Given the description of an element on the screen output the (x, y) to click on. 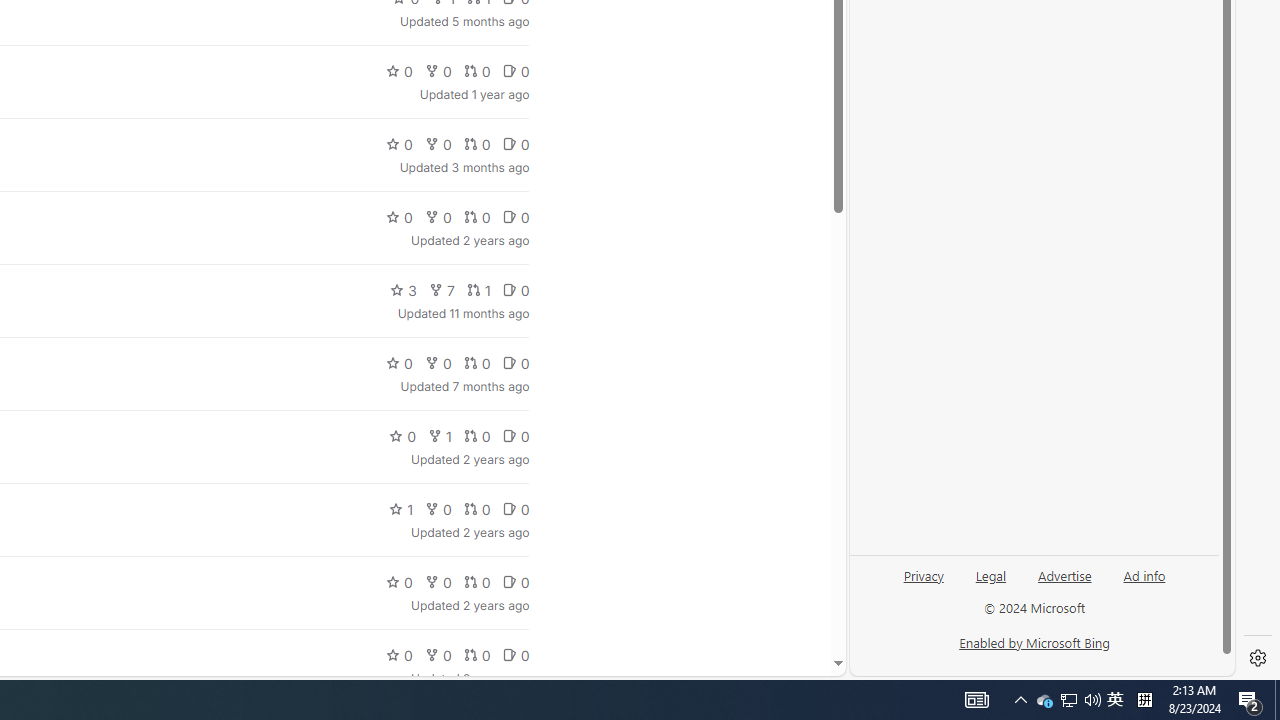
Class: s14 gl-mr-2 (509, 655)
3 (403, 289)
7 (441, 289)
1 (401, 508)
0 (515, 654)
